Given the description of an element on the screen output the (x, y) to click on. 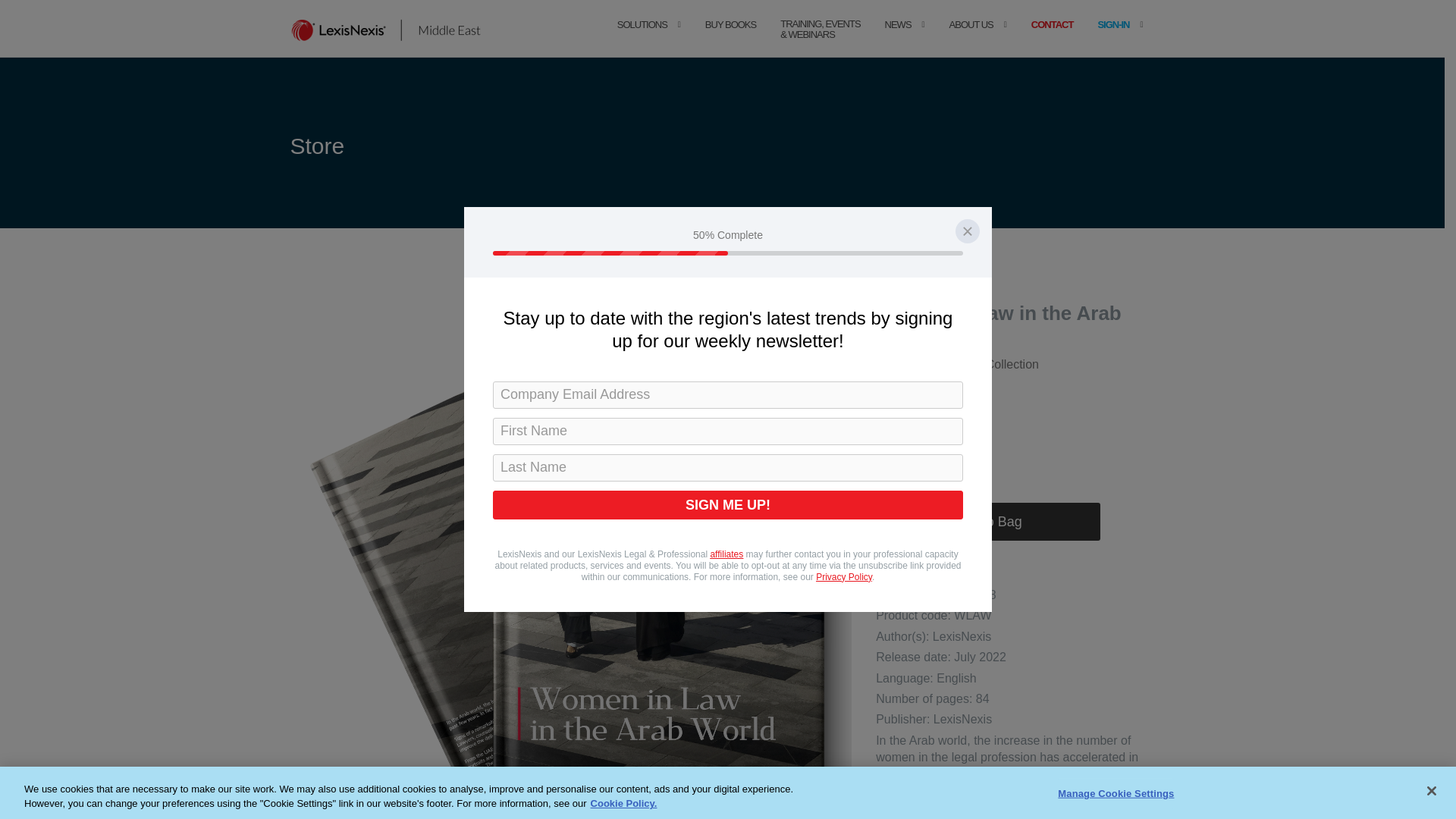
ABOUT US (970, 40)
SOLUTIONS (641, 40)
Solutions (641, 40)
CONTACT (1052, 40)
Buy Books (729, 40)
BUY BOOKS (729, 40)
